Given the description of an element on the screen output the (x, y) to click on. 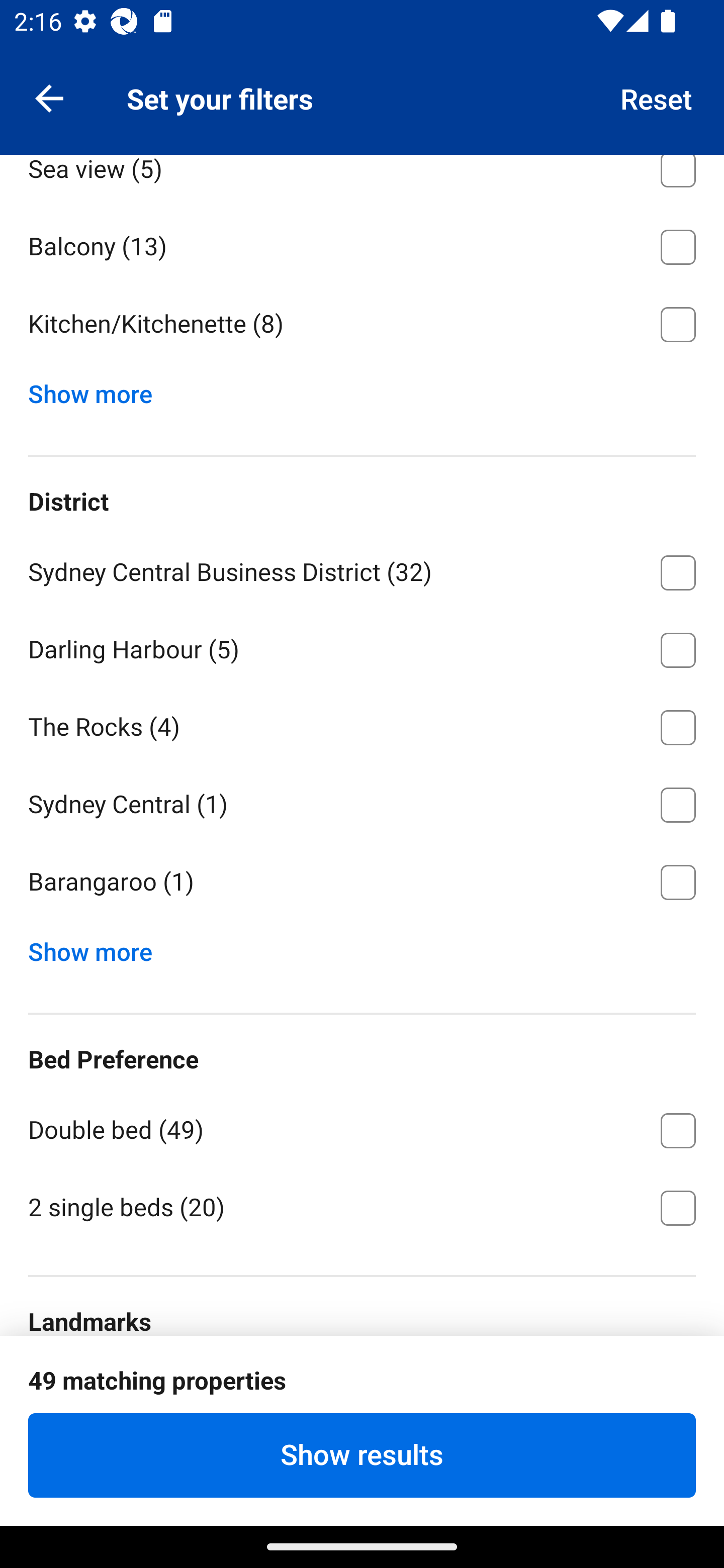
Navigate up (49, 97)
Private bathroom ⁦(46) (361, 88)
Reset (656, 97)
Sea view ⁦(5) (361, 180)
Balcony ⁦(13) (361, 243)
Kitchen/Kitchenette ⁦(8) (361, 324)
Show more (97, 389)
Sydney Central Business District ⁦(32) (361, 568)
Darling Harbour ⁦(5) (361, 646)
The Rocks ⁦(4) (361, 724)
Sydney Central ⁦(1) (361, 801)
Barangaroo ⁦(1) (361, 882)
Show more (97, 947)
Double bed ⁦(49) (361, 1127)
2 single beds ⁦(20) (361, 1206)
Circular Quay ⁦(14) (361, 1389)
Show results (361, 1454)
